Given the description of an element on the screen output the (x, y) to click on. 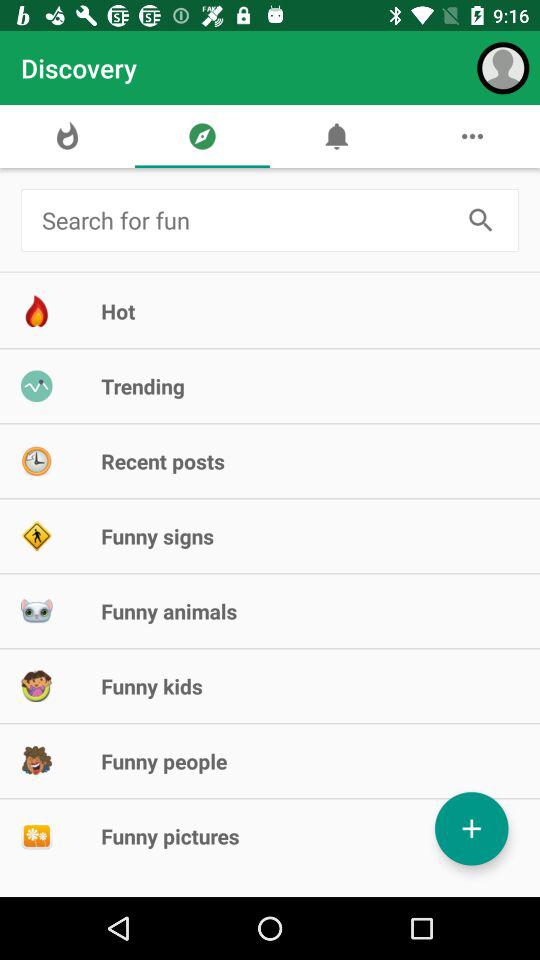
search the article (245, 220)
